Given the description of an element on the screen output the (x, y) to click on. 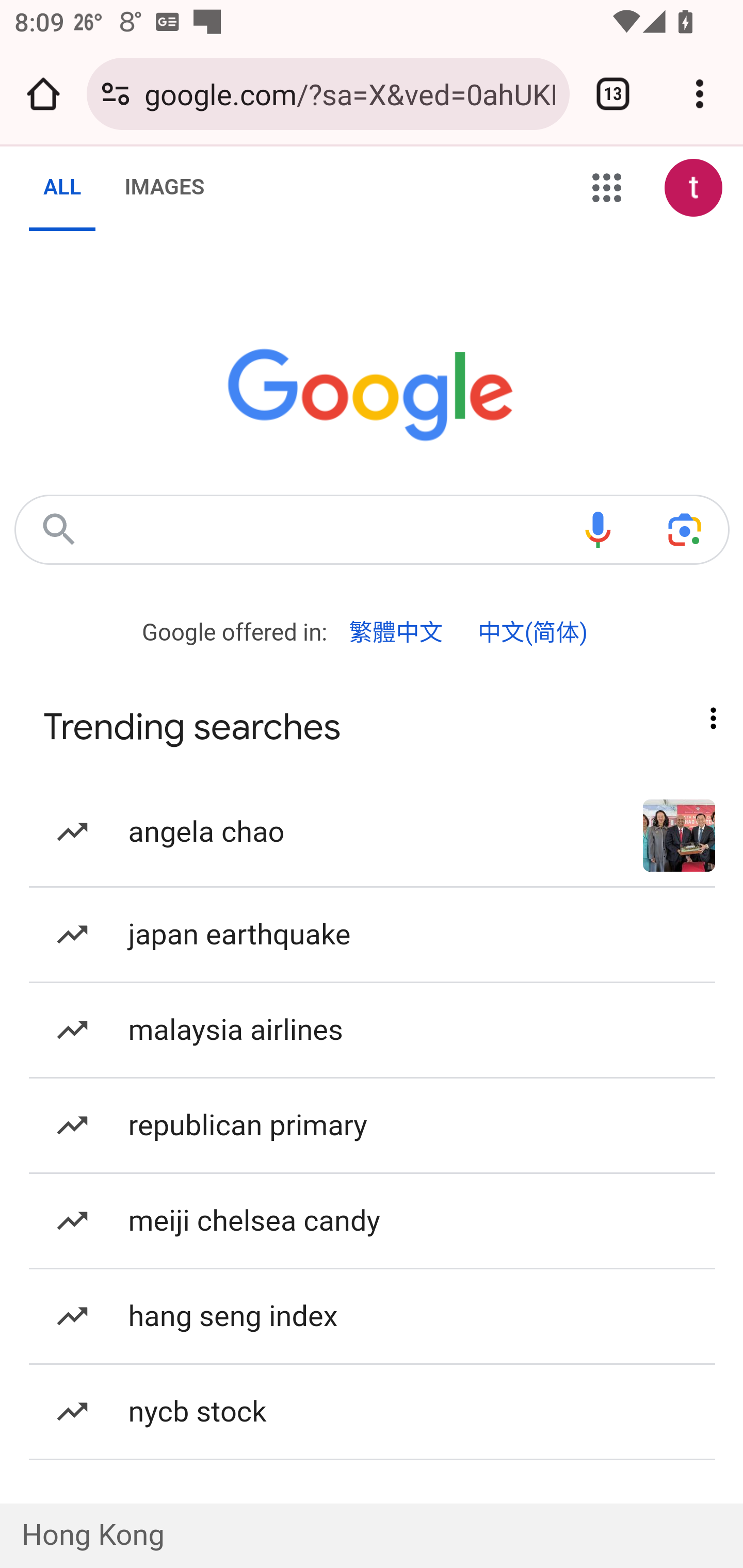
Open the home page (43, 93)
Connection is secure (115, 93)
Switch or close tabs (612, 93)
Customize and control Google Chrome (699, 93)
IMAGES (164, 188)
Google apps (607, 188)
Google Search (58, 528)
Search using your camera or photos (684, 528)
繁體中文 (395, 632)
中文(简体) (532, 632)
angela chao (372, 831)
japan earthquake (372, 934)
malaysia airlines (372, 1029)
republican primary (372, 1125)
meiji chelsea candy (372, 1221)
hang seng index (372, 1315)
nycb stock (372, 1410)
